Given the description of an element on the screen output the (x, y) to click on. 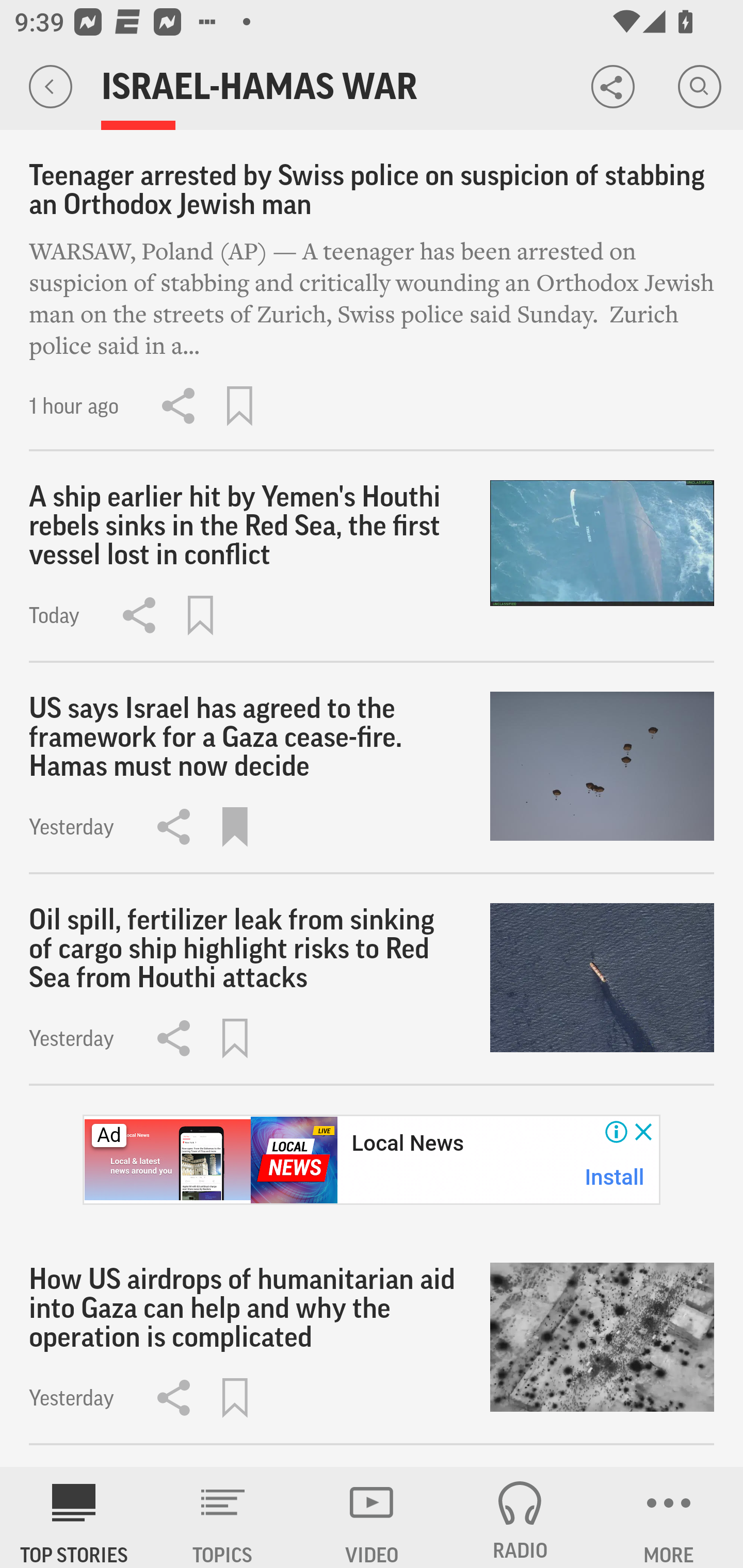
Local News (407, 1142)
Install (614, 1177)
AP News TOP STORIES (74, 1517)
TOPICS (222, 1517)
VIDEO (371, 1517)
RADIO (519, 1517)
MORE (668, 1517)
